Given the description of an element on the screen output the (x, y) to click on. 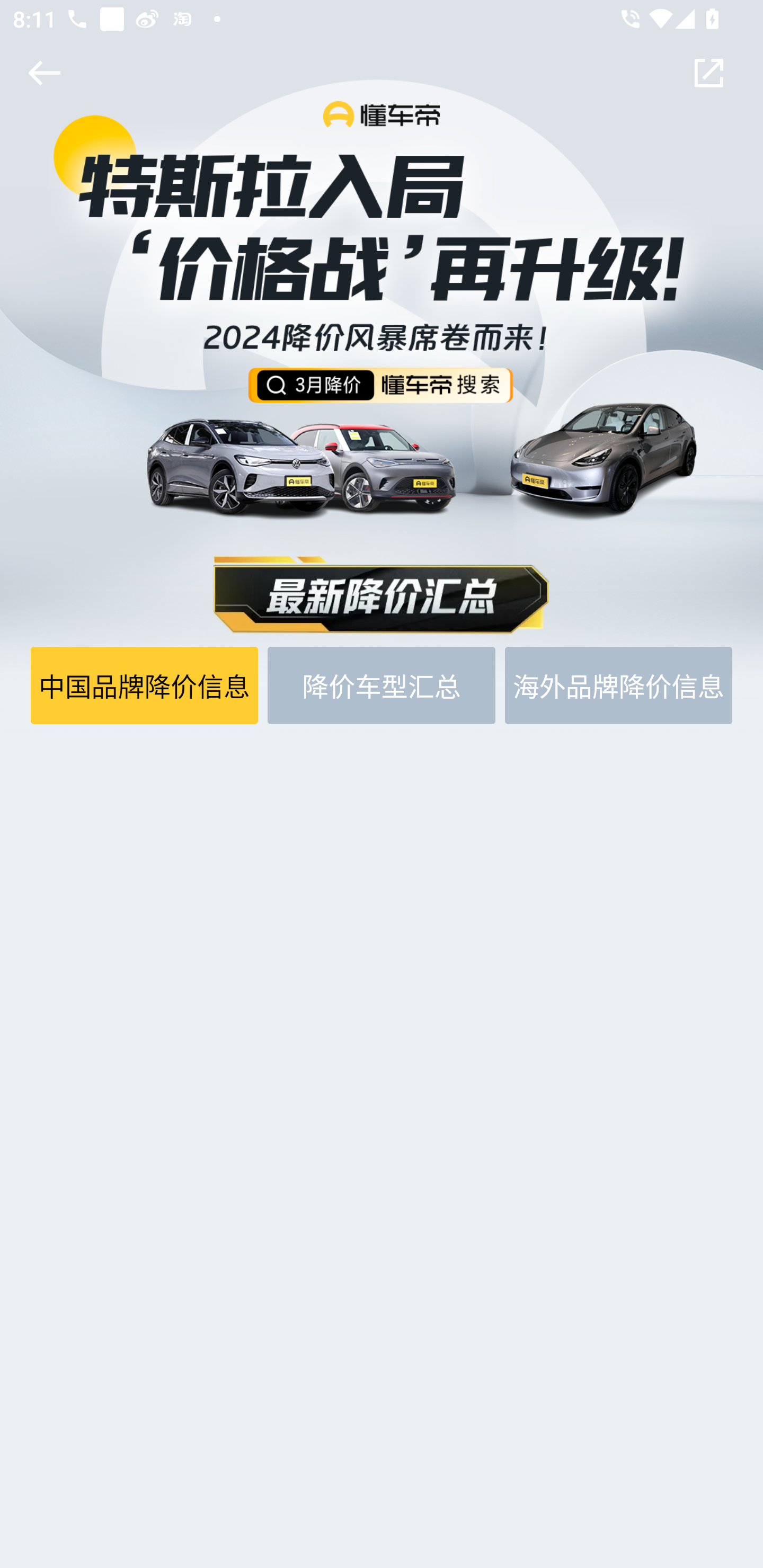
 (41, 72)
中国品牌降价信息 (144, 685)
降价车型汇总 (381, 685)
海外品牌降价信息 (617, 685)
